Given the description of an element on the screen output the (x, y) to click on. 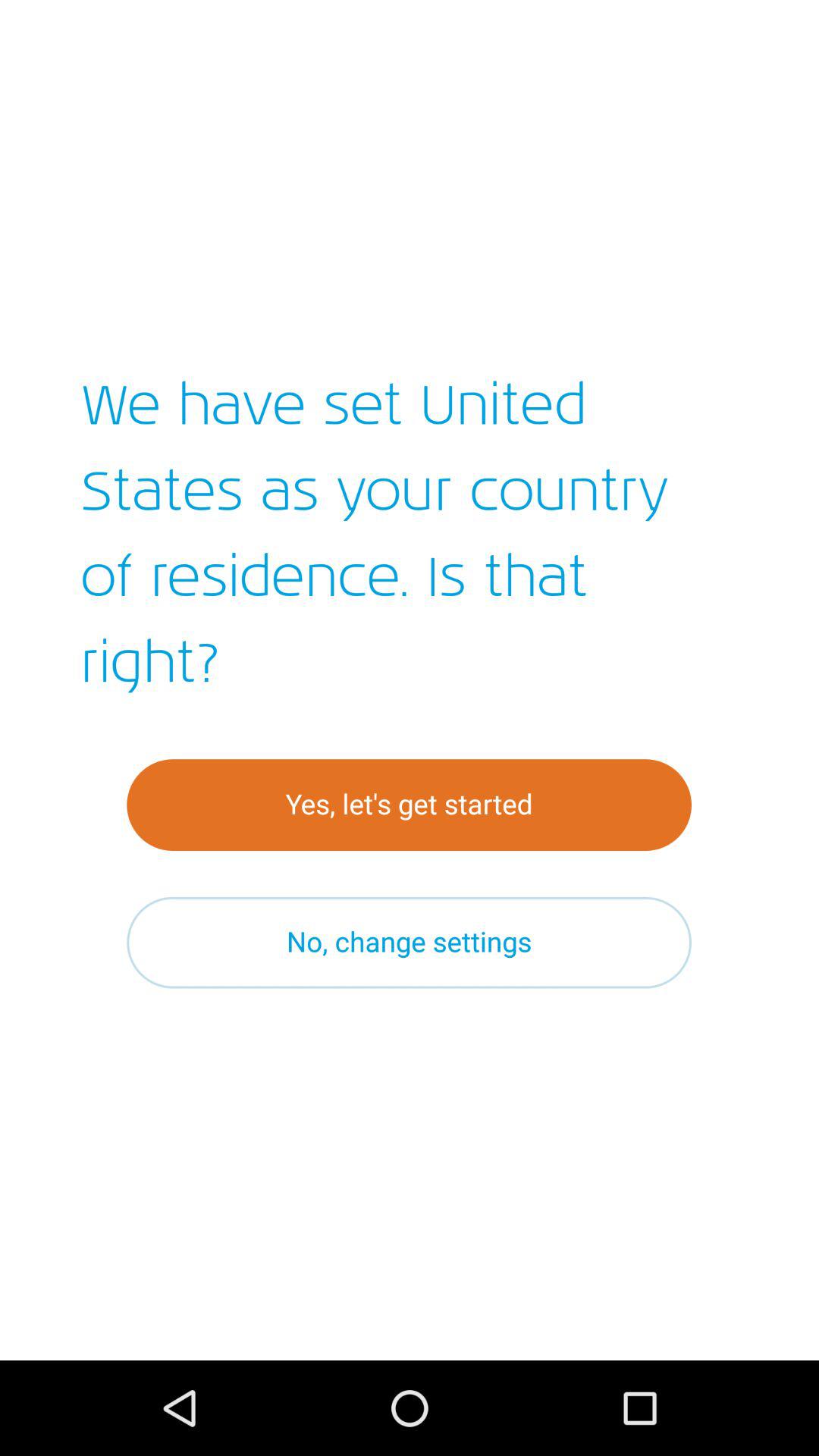
jump until the no, change settings (408, 942)
